Given the description of an element on the screen output the (x, y) to click on. 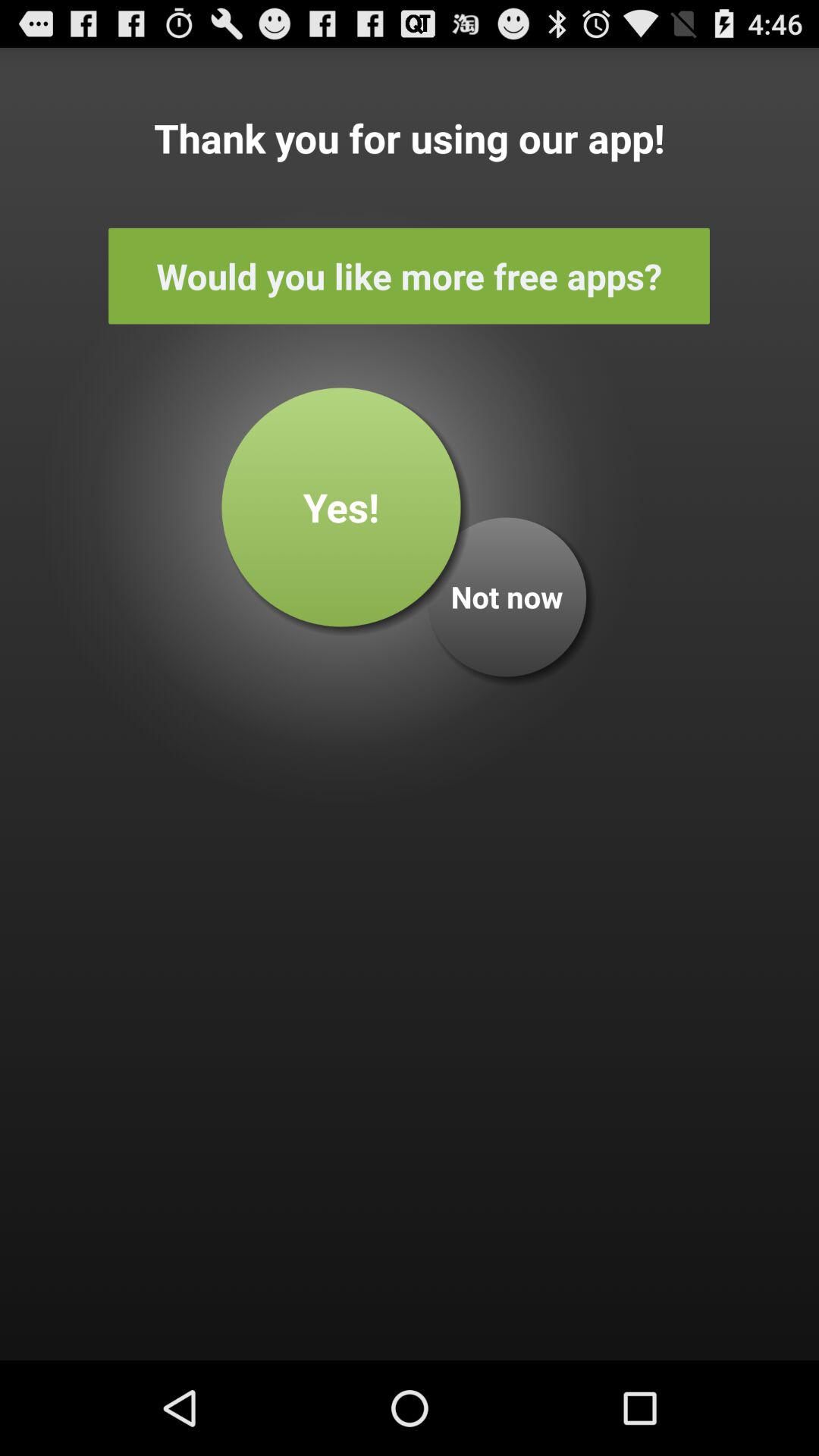
press item below the would you like icon (340, 506)
